Given the description of an element on the screen output the (x, y) to click on. 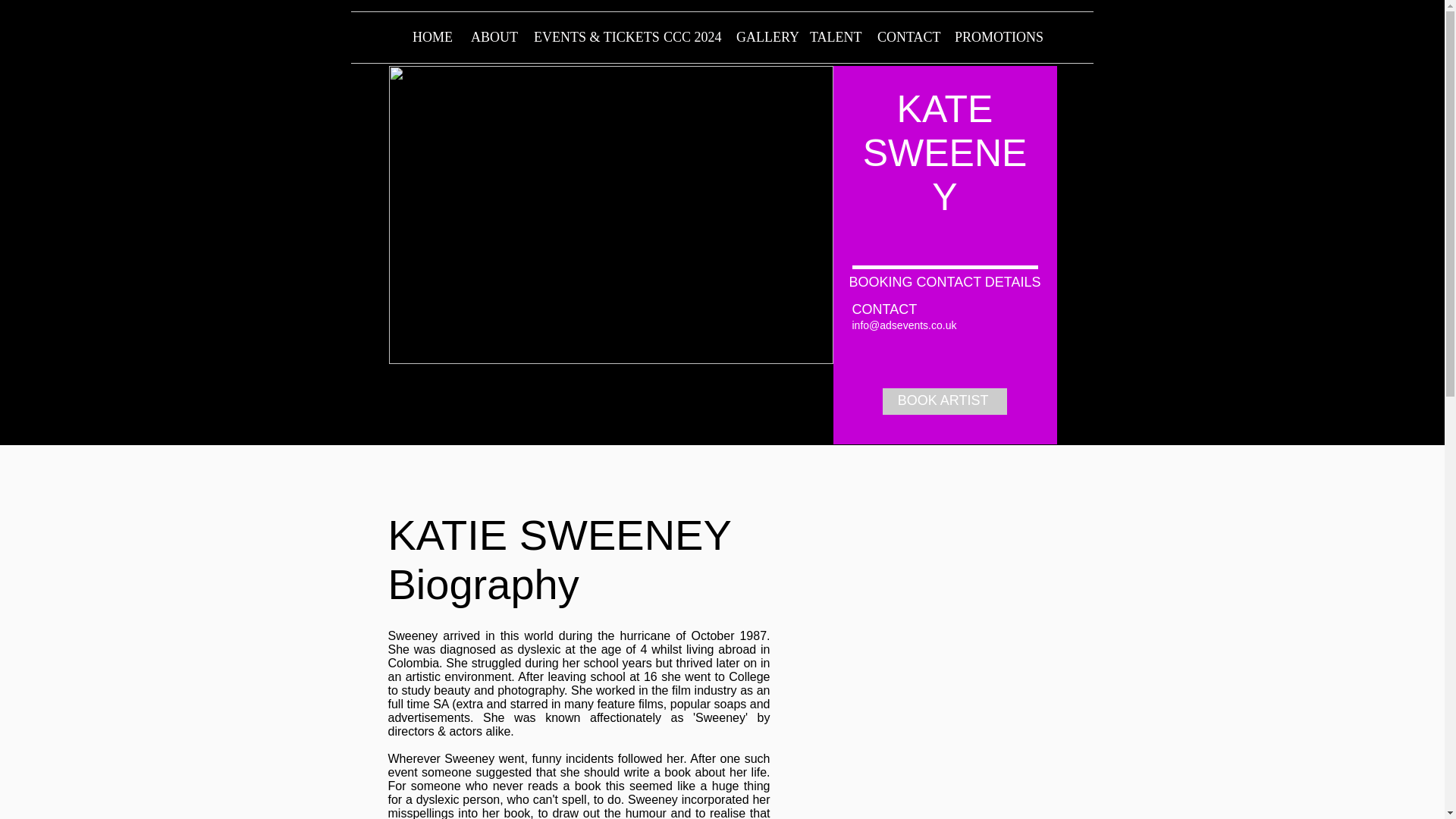
ABOUT (491, 37)
HOME (430, 37)
PROMOTIONS (992, 37)
CONTACT (904, 37)
TALENT (831, 37)
GALLERY (761, 37)
CCC 2024 (688, 37)
